Given the description of an element on the screen output the (x, y) to click on. 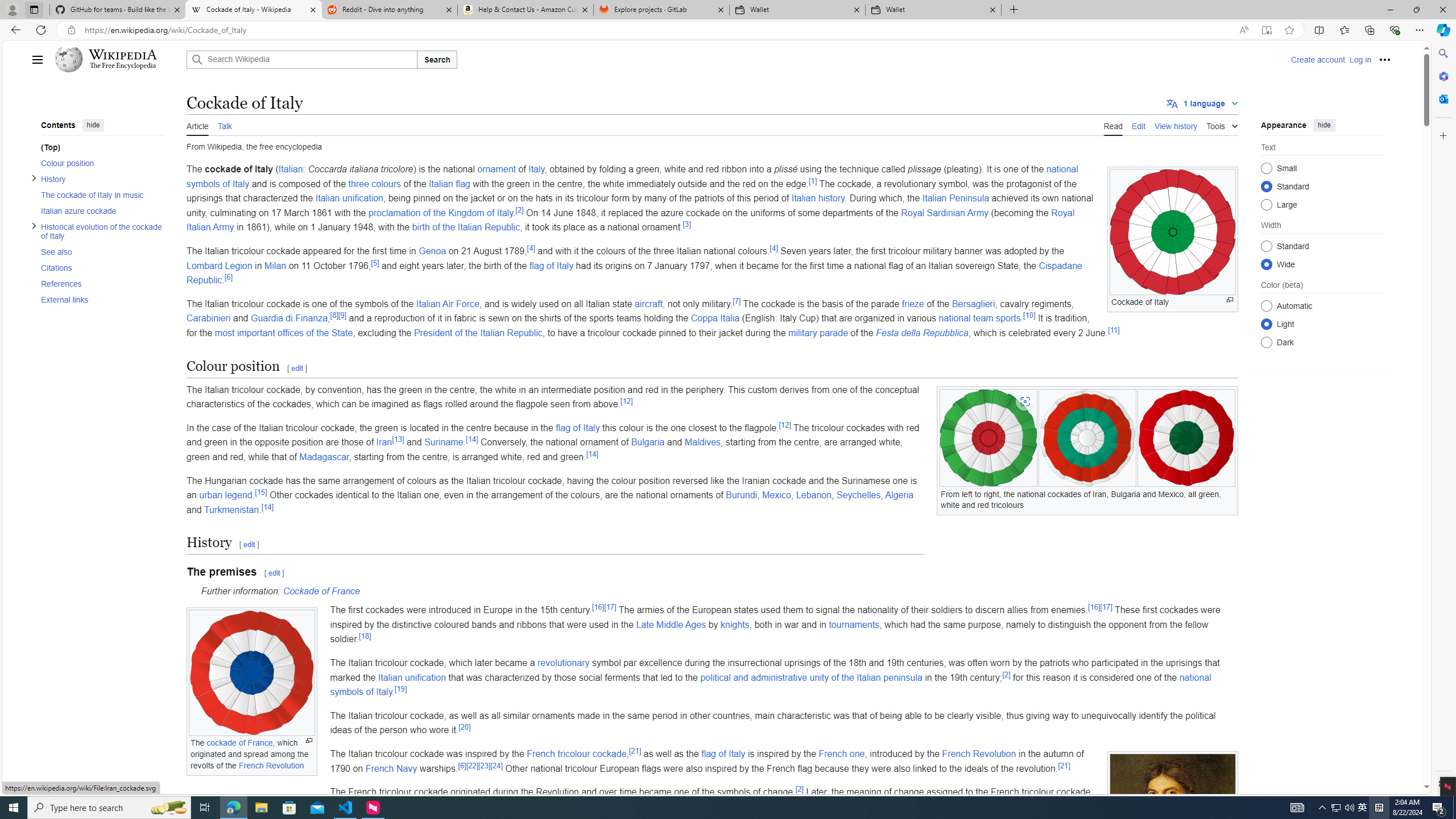
Italian unification (411, 677)
urban legend (225, 495)
[7] (736, 300)
References (101, 283)
Italian history (817, 198)
Edit (1138, 124)
Citations (101, 267)
French Navy (391, 768)
HistoryToggle History subsection (98, 178)
Seychelles (858, 495)
Standard (1266, 245)
tournaments (853, 624)
